Given the description of an element on the screen output the (x, y) to click on. 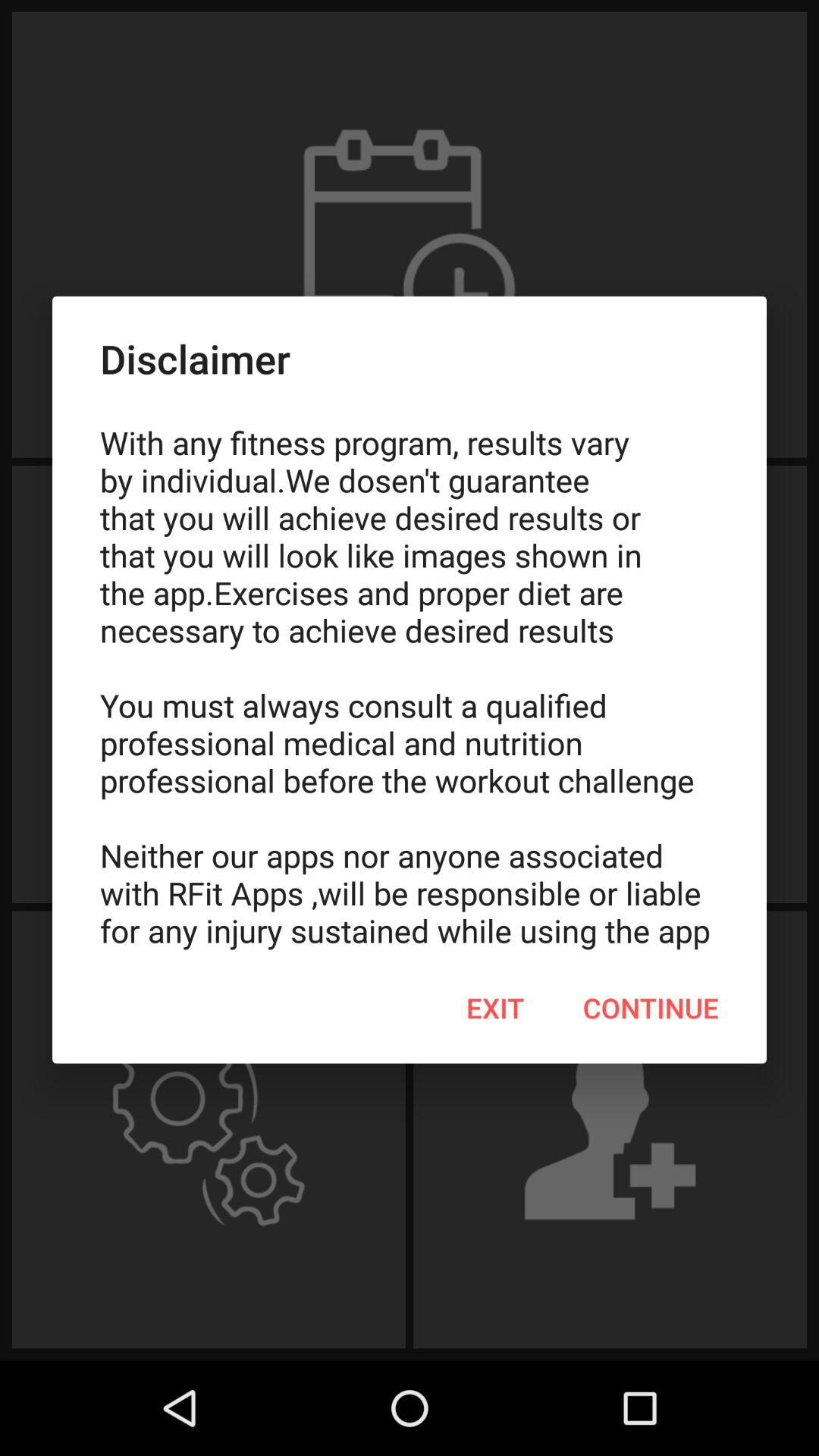
tap the exit item (495, 1007)
